Given the description of an element on the screen output the (x, y) to click on. 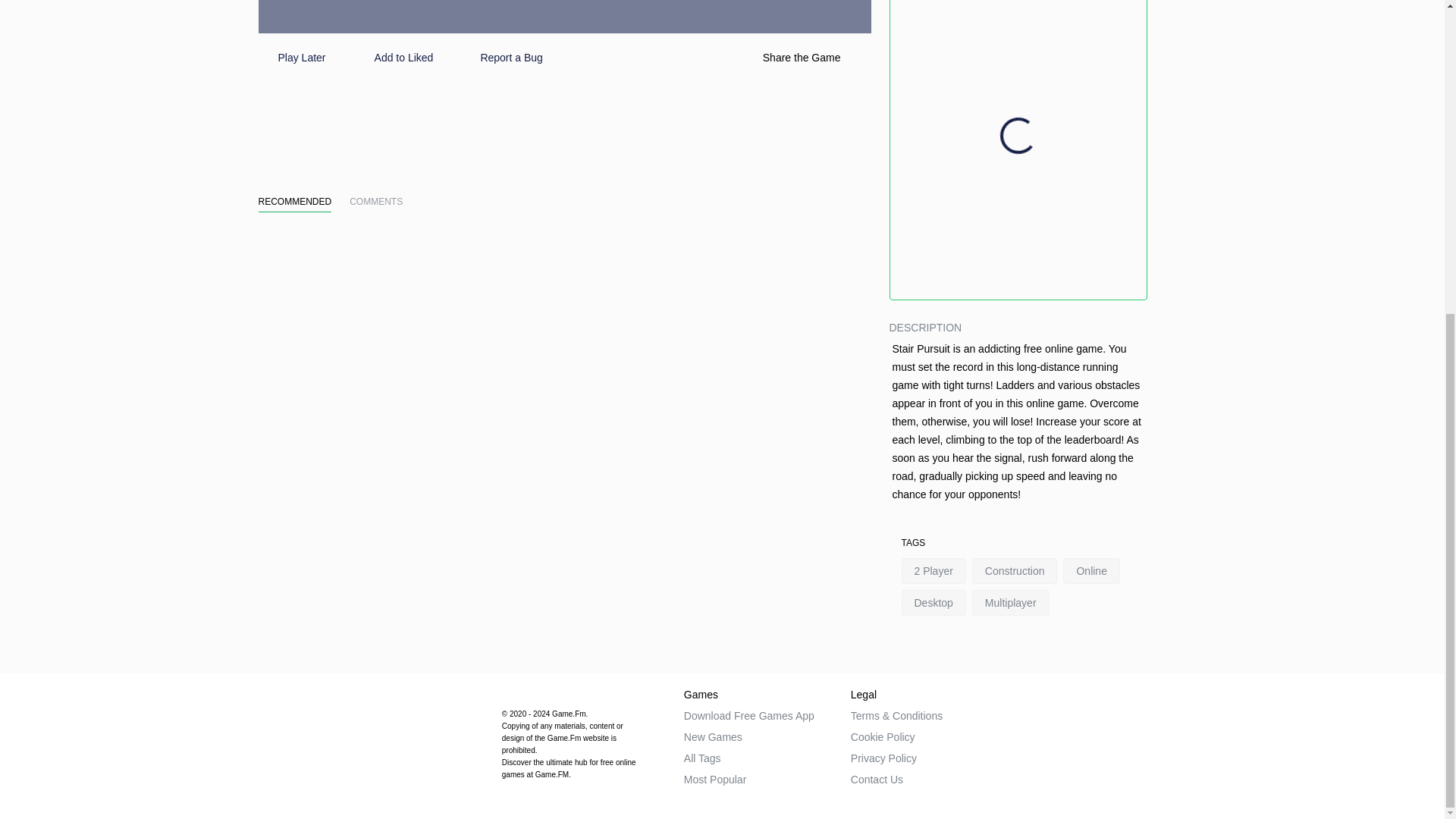
2 Player (933, 570)
Desktop (933, 602)
Play Later (290, 57)
Privacy Policy (883, 758)
Construction (1015, 570)
Multiplayer (1010, 602)
Cookie Policy (882, 737)
Add to Liked (391, 57)
Most Popular (714, 779)
Contact Us (876, 779)
